Given the description of an element on the screen output the (x, y) to click on. 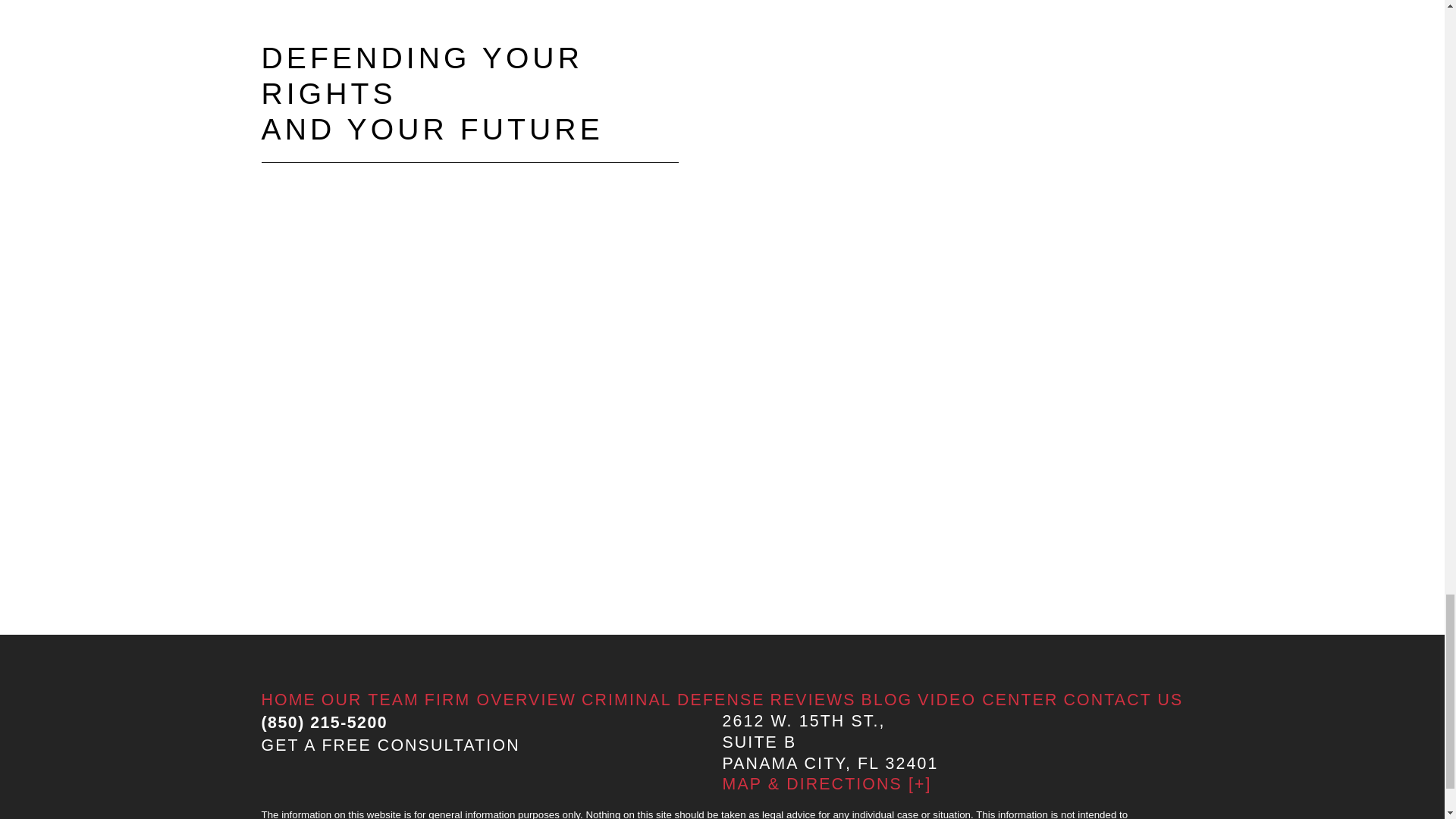
Twitter (644, 800)
Facebook (800, 800)
Instagram (955, 800)
TikTok (1113, 800)
Google Business Profile (332, 800)
Avvo (488, 800)
